Given the description of an element on the screen output the (x, y) to click on. 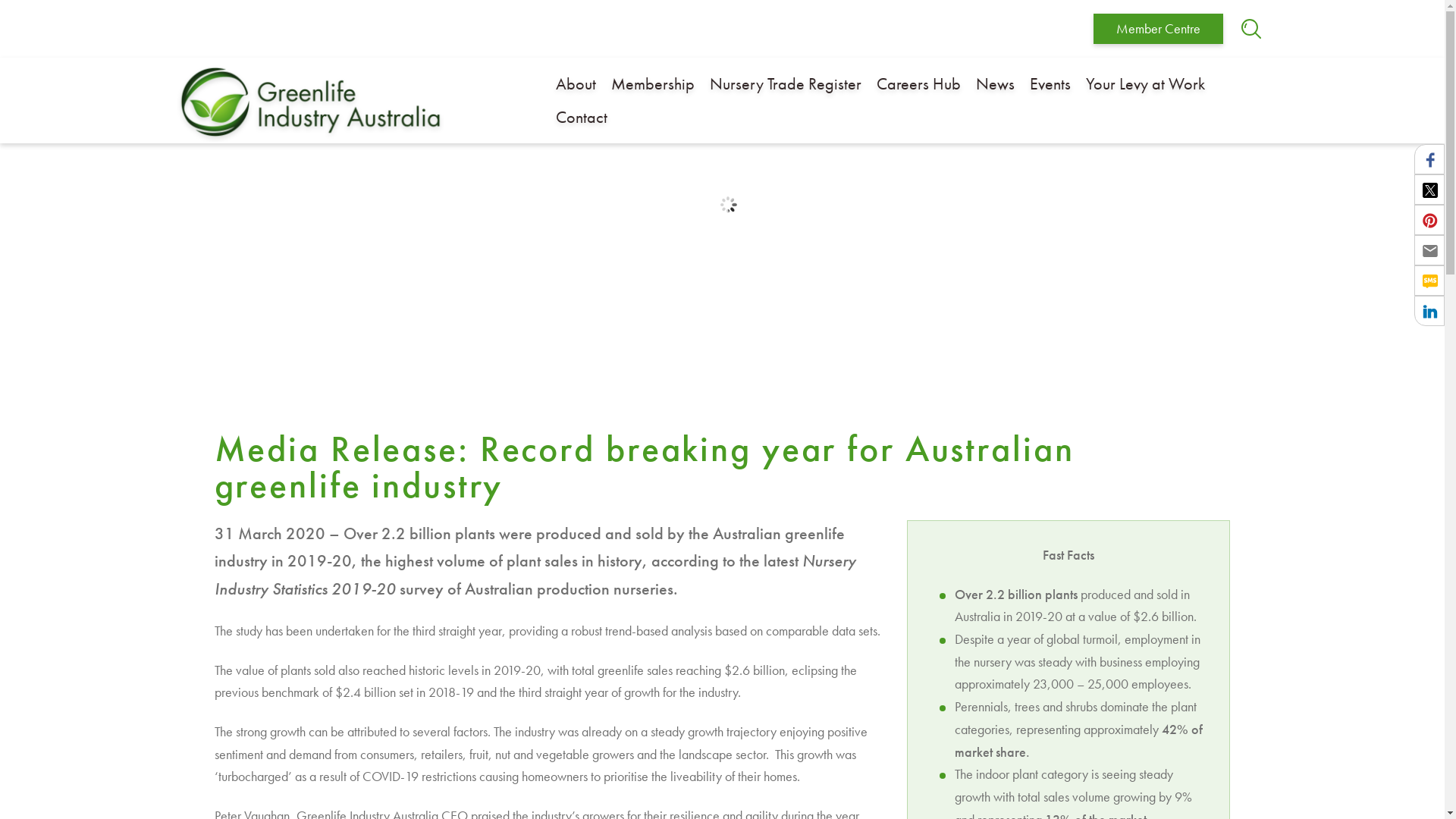
Nursery Trade Register Element type: text (785, 83)
Member Centre Element type: text (1158, 28)
Events Element type: text (1050, 83)
Membership Element type: text (652, 83)
News Element type: text (994, 83)
Careers Hub Element type: text (918, 83)
Contact Element type: text (580, 116)
About Element type: text (574, 83)
Your Levy at Work Element type: text (1145, 83)
